Given the description of an element on the screen output the (x, y) to click on. 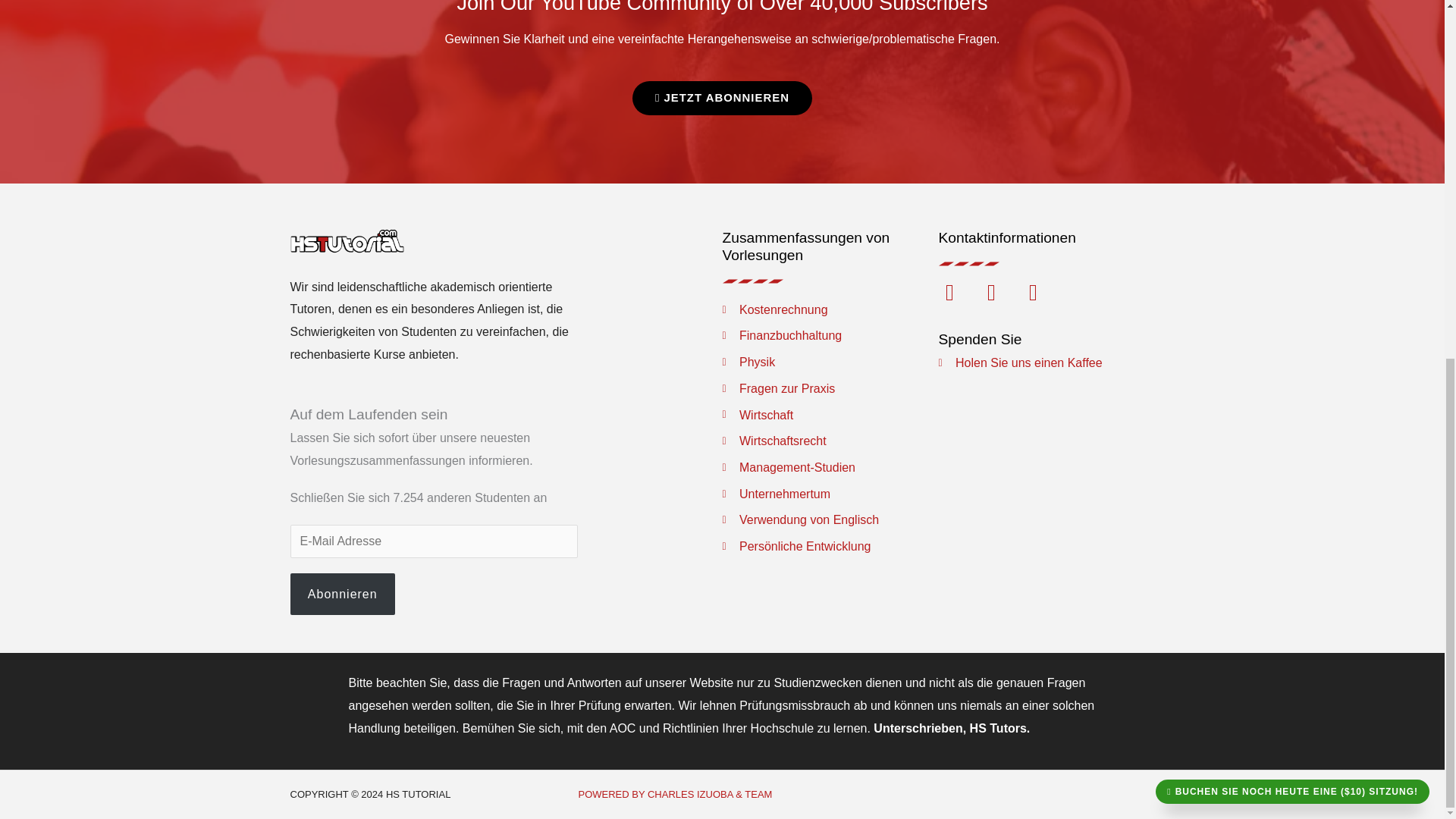
Physik (829, 362)
Abonnieren (341, 594)
JETZT ABONNIEREN (721, 98)
Kostenrechnung (829, 309)
Finanzbuchhaltung (829, 335)
Fragen zur Praxis (829, 388)
